Given the description of an element on the screen output the (x, y) to click on. 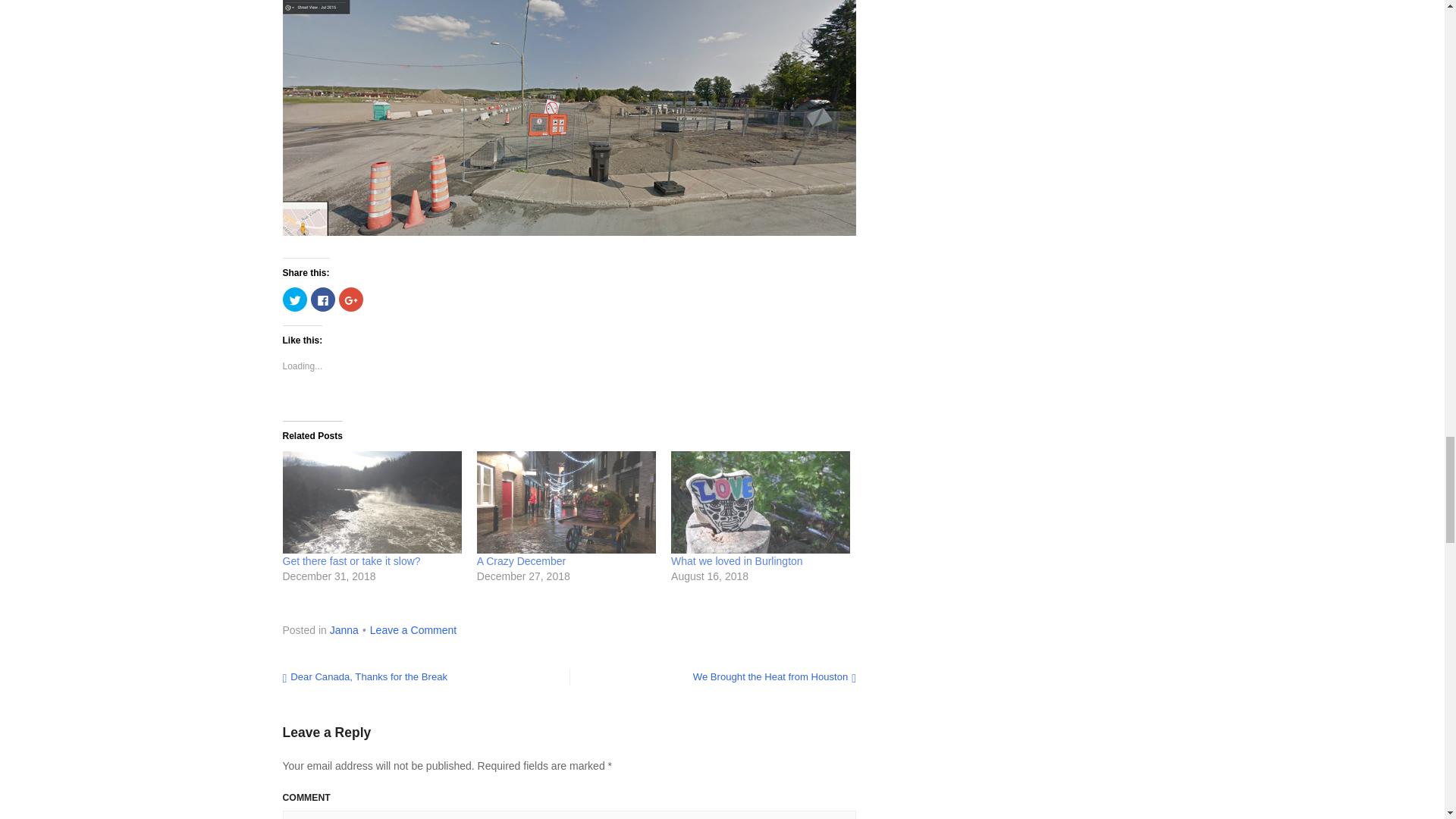
A Crazy December (521, 561)
Dear Canada, Thanks for the Break (364, 676)
Click to share on Twitter (293, 299)
Click to share on Facebook (322, 299)
Get there fast or take it slow? (351, 561)
Janna (344, 630)
What we loved in Burlington (737, 561)
We Brought the Heat from Houston (774, 676)
